Given the description of an element on the screen output the (x, y) to click on. 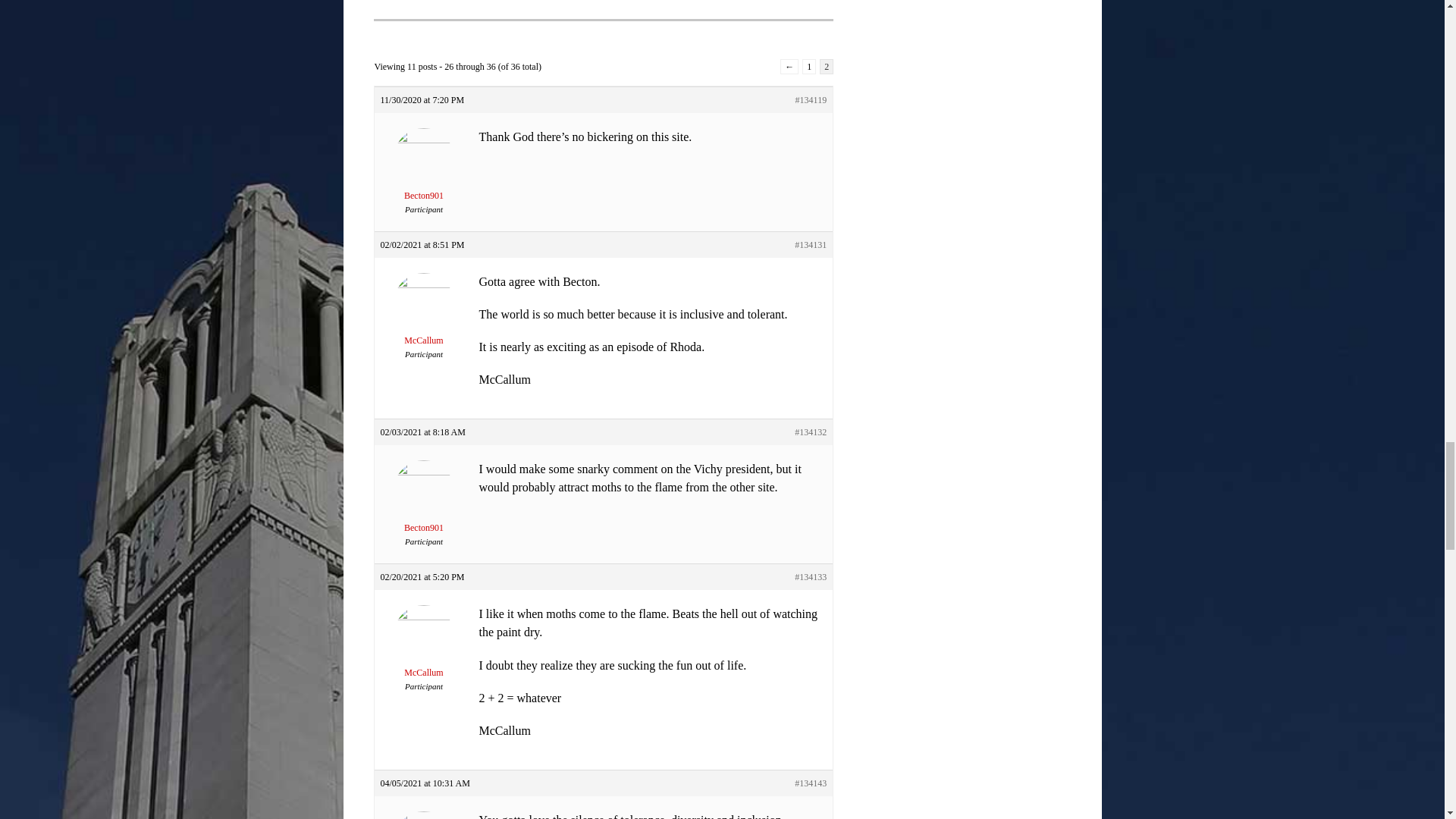
Becton901 (423, 506)
View McCallum's profile (423, 651)
1 (808, 66)
McCallum (423, 318)
View Becton901's profile (423, 174)
McCallum (423, 651)
Becton901 (423, 174)
View Becton901's profile (423, 506)
View McCallum's profile (423, 318)
